Given the description of an element on the screen output the (x, y) to click on. 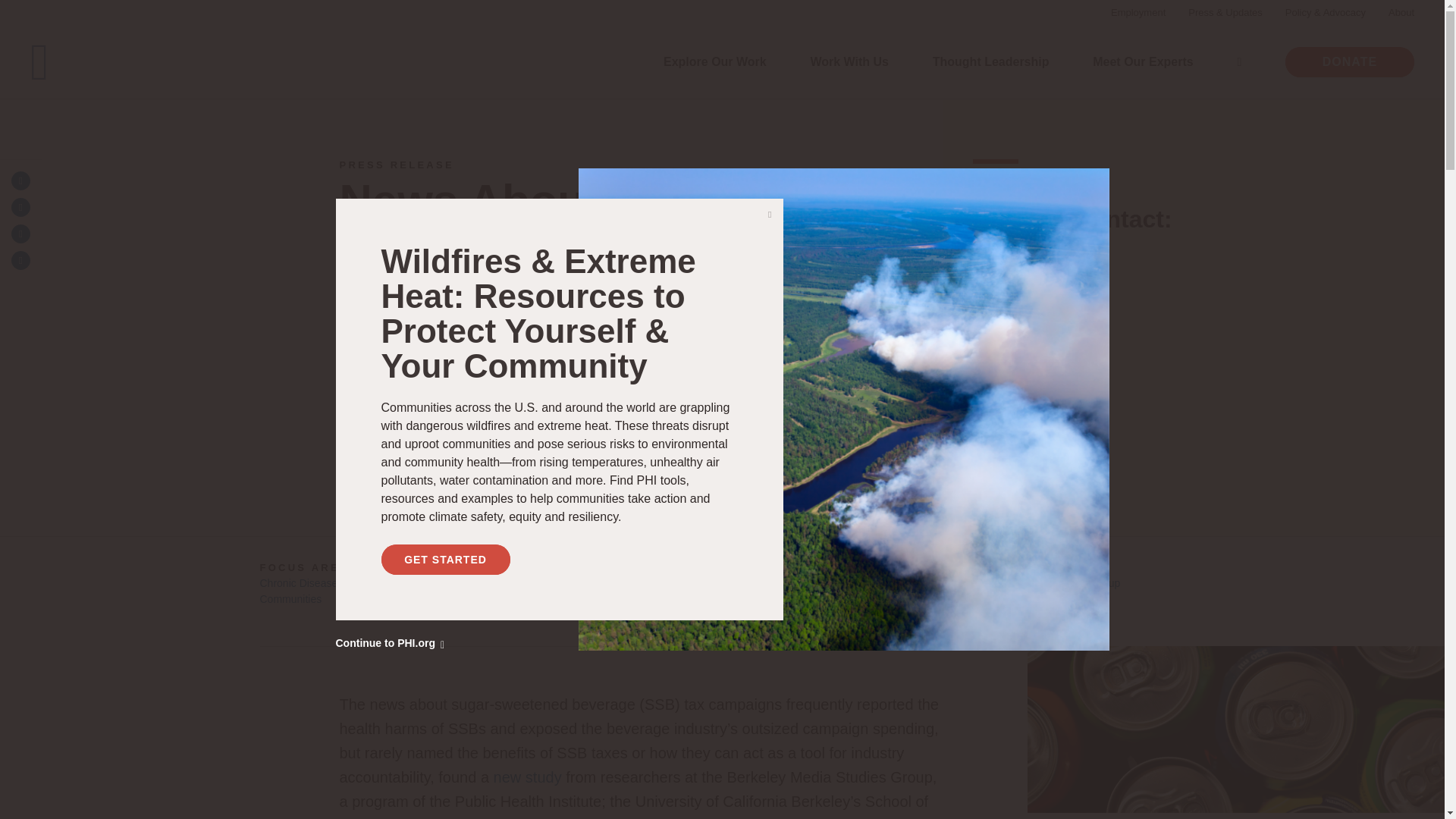
Explore Our Work (715, 61)
Continue to PHI.org (389, 643)
